Given the description of an element on the screen output the (x, y) to click on. 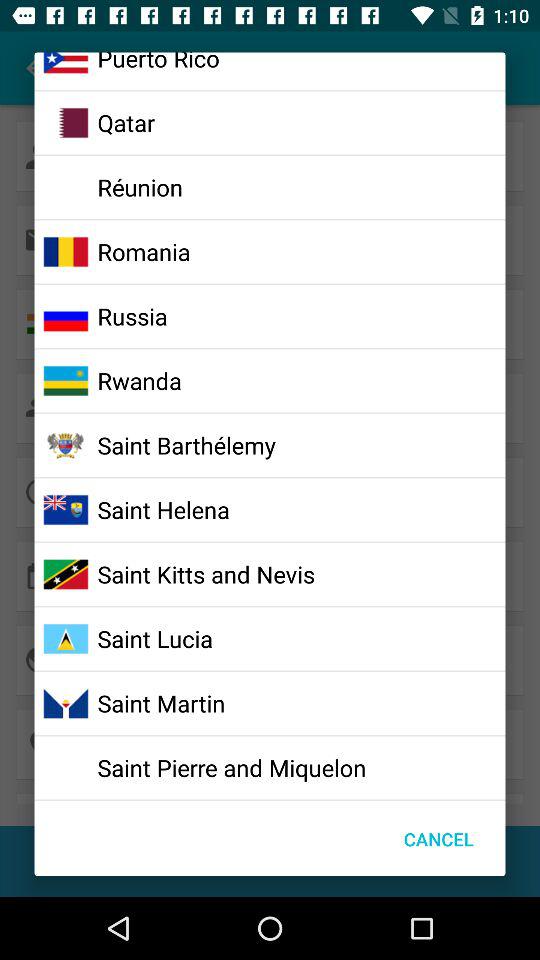
press the puerto rico item (158, 63)
